Given the description of an element on the screen output the (x, y) to click on. 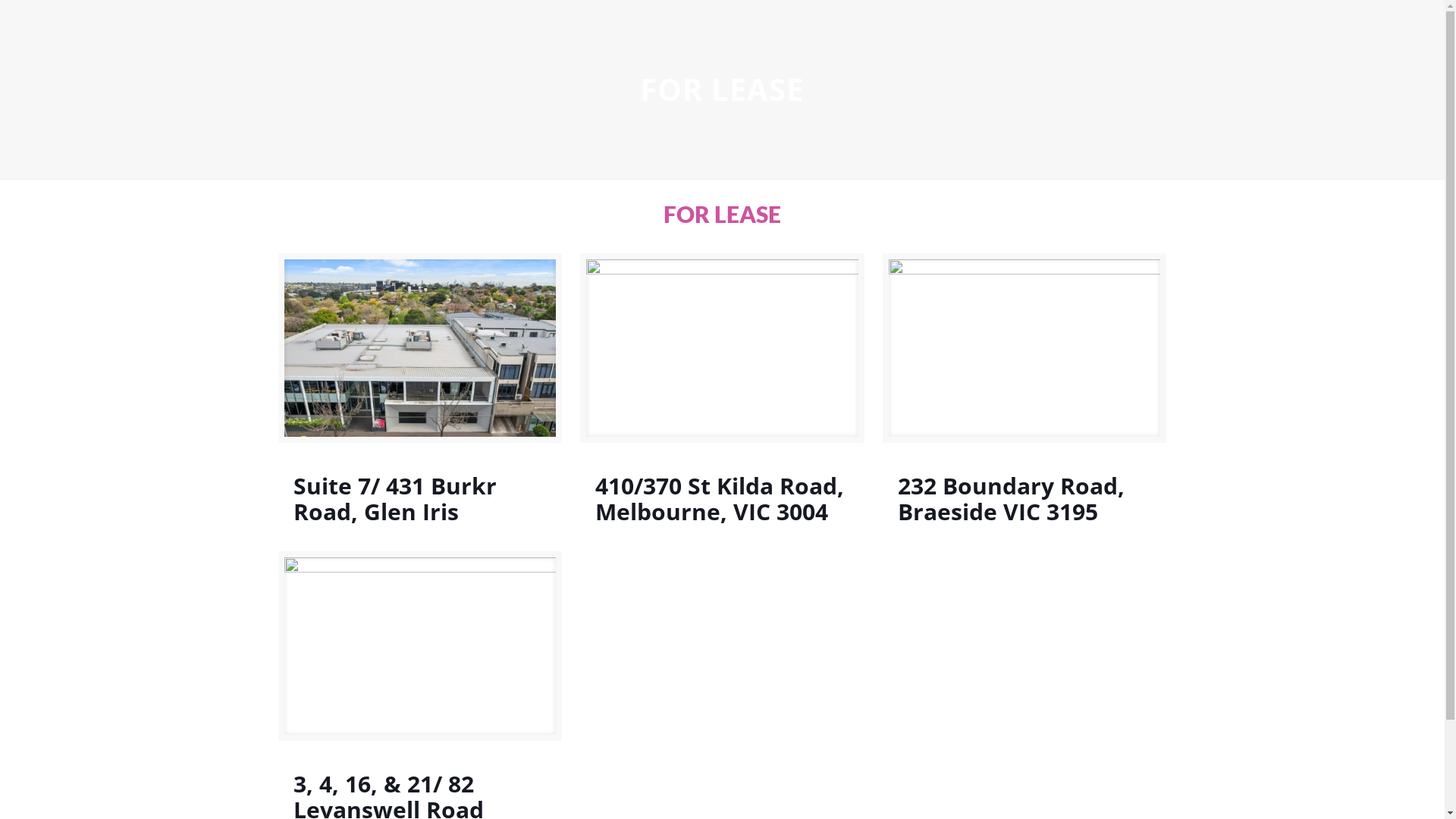
0423 630 170 Element type: text (366, 527)
1300 298 888 Element type: text (366, 492)
Facebook Element type: hover (1079, 787)
LinkedIn Element type: hover (1099, 787)
232 Boundary Road, Braeside VIC 3195 Element type: text (1010, 498)
info@gaindustrial.com.au Element type: text (396, 562)
Instagram Element type: hover (1120, 787)
Suite 7/ 431 Burkr Road, Glen Iris Element type: text (394, 498)
410/370 St Kilda Road, Melbourne, VIC 3004 Element type: text (719, 498)
SUBMIT Element type: text (612, 663)
